Given the description of an element on the screen output the (x, y) to click on. 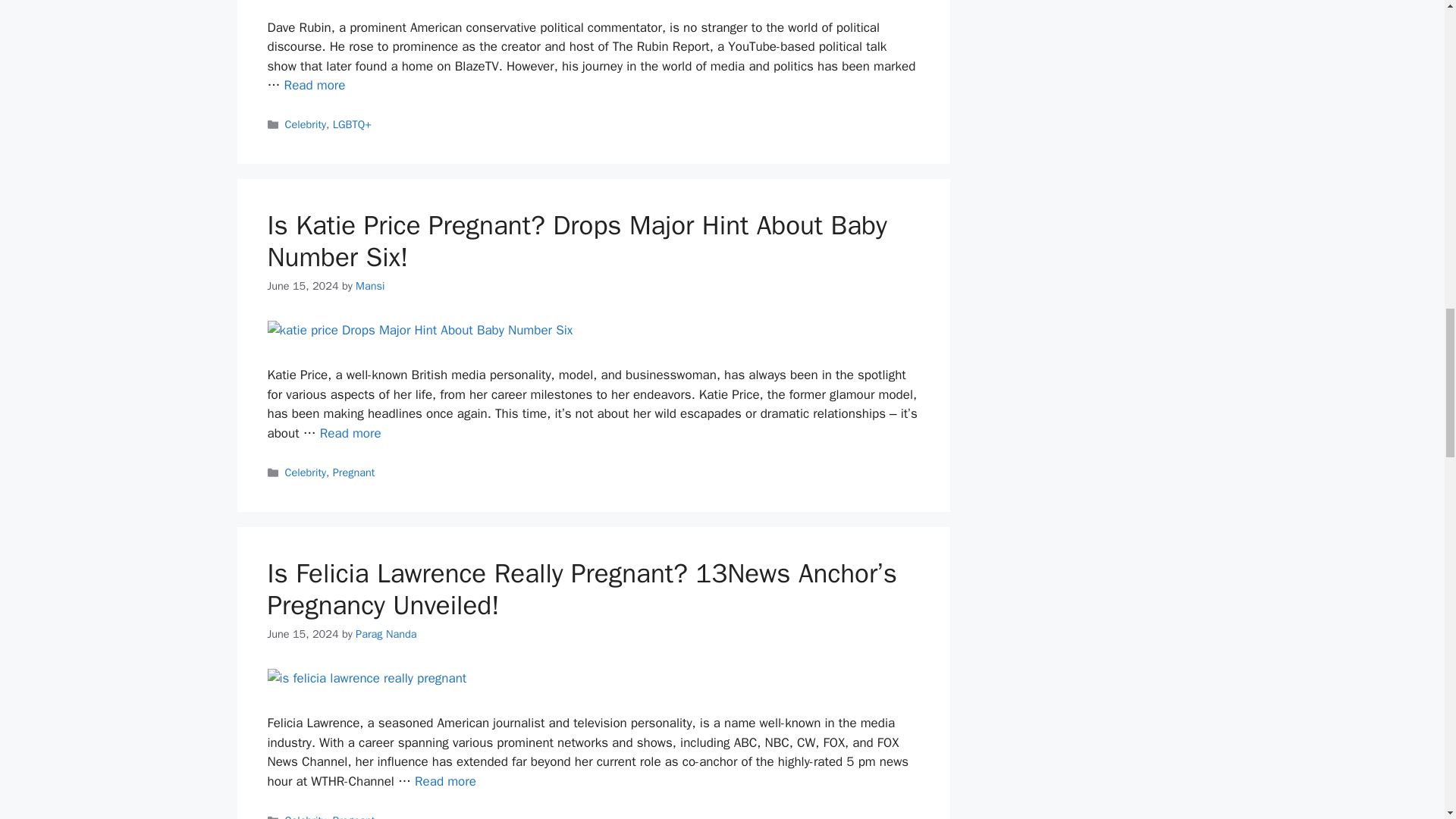
View all posts by Mansi (369, 285)
Mansi (369, 285)
View all posts by Parag Nanda (385, 633)
Read more (314, 84)
Celebrity (305, 124)
